Given the description of an element on the screen output the (x, y) to click on. 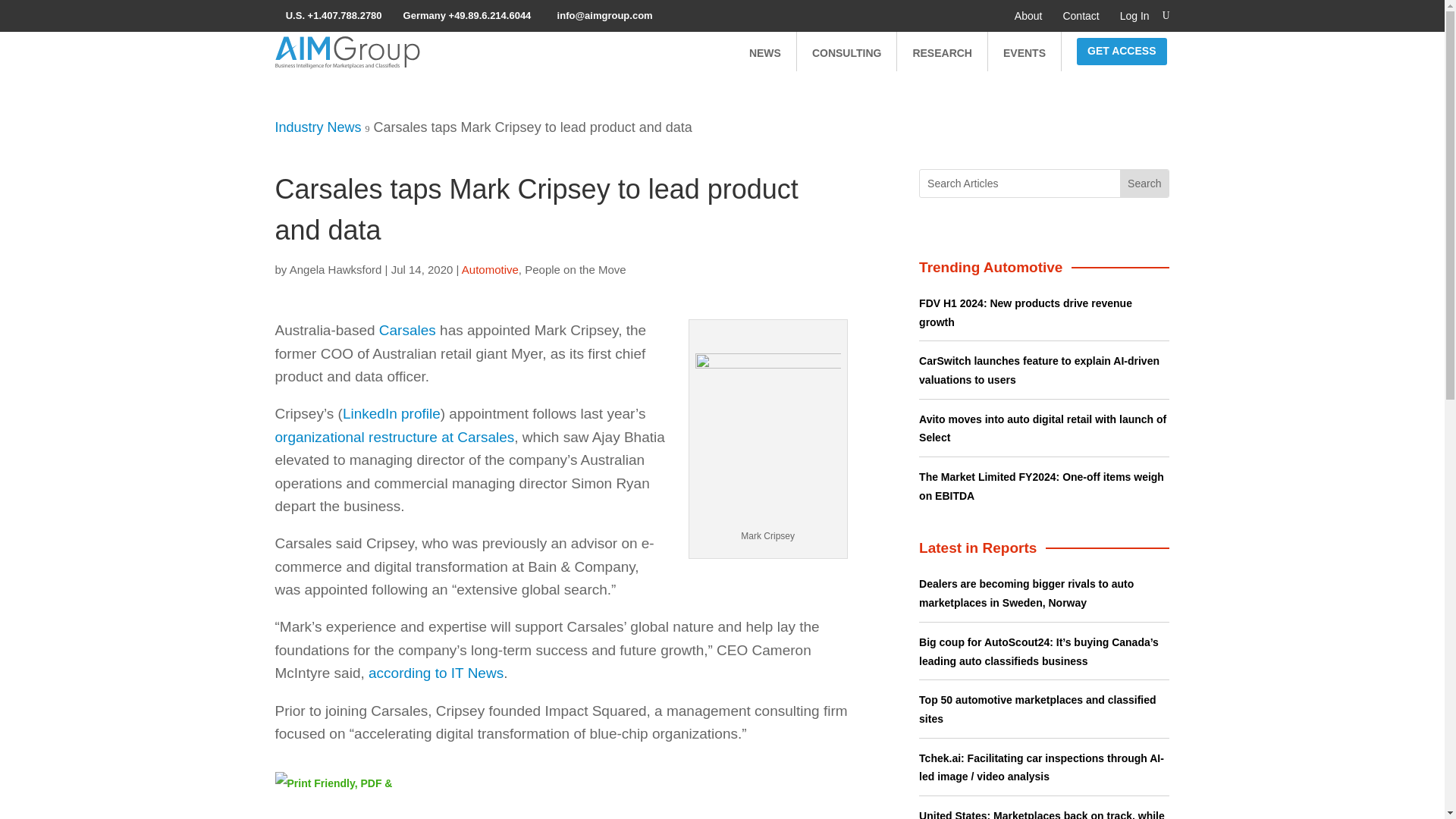
Contact (1080, 15)
Industry News (318, 127)
Search (1144, 183)
CONSULTING (847, 51)
Log In (1134, 15)
Angela Hawksford (335, 269)
EVENTS (1024, 51)
RESEARCH (942, 51)
GET ACCESS (1122, 51)
Automotive (489, 269)
